Given the description of an element on the screen output the (x, y) to click on. 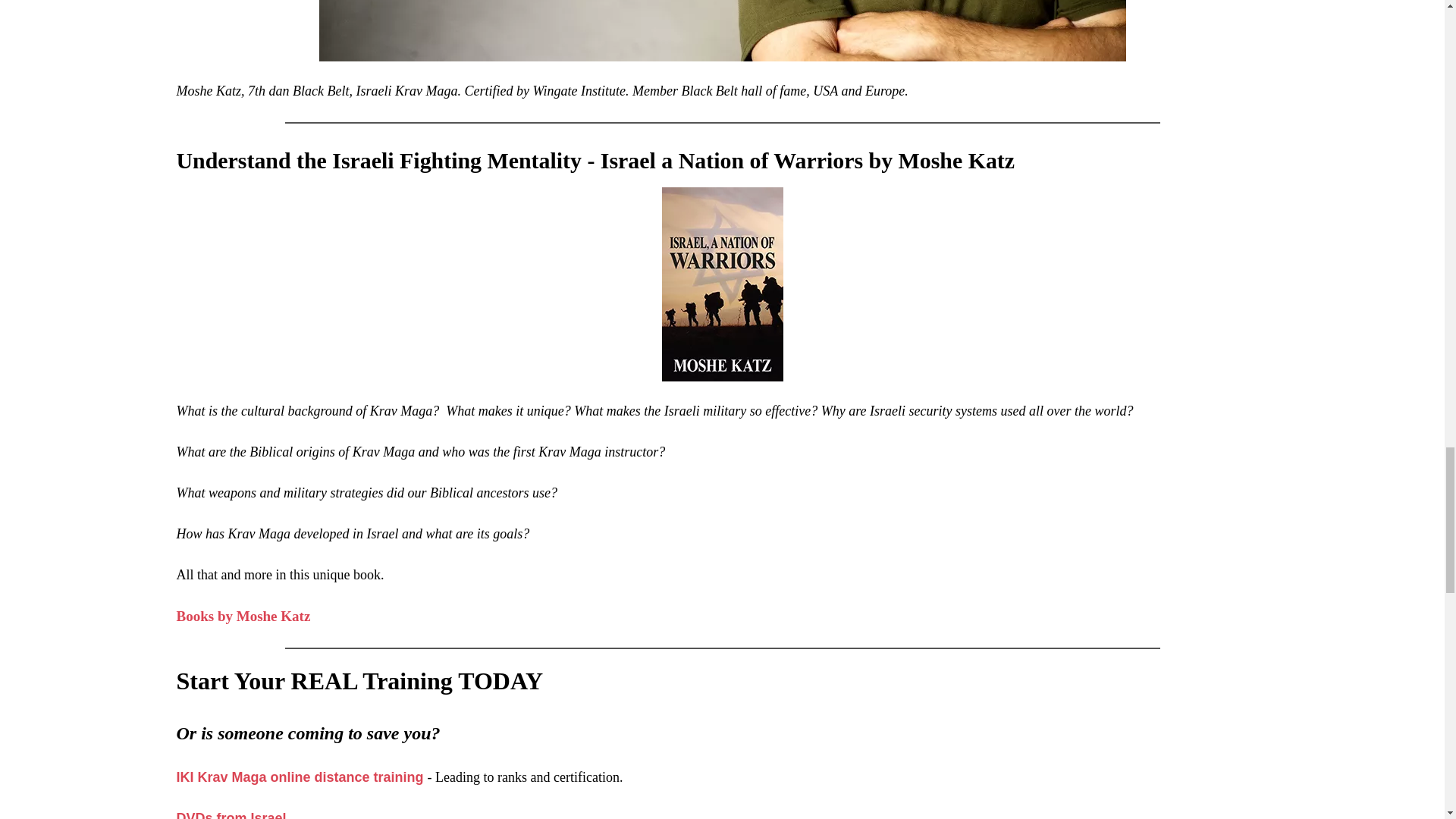
Books by Moshe Katz (243, 616)
DVDs from Israel (230, 814)
Moshe2021 (721, 30)
IKI Krav Maga online distance training (301, 776)
